Given the description of an element on the screen output the (x, y) to click on. 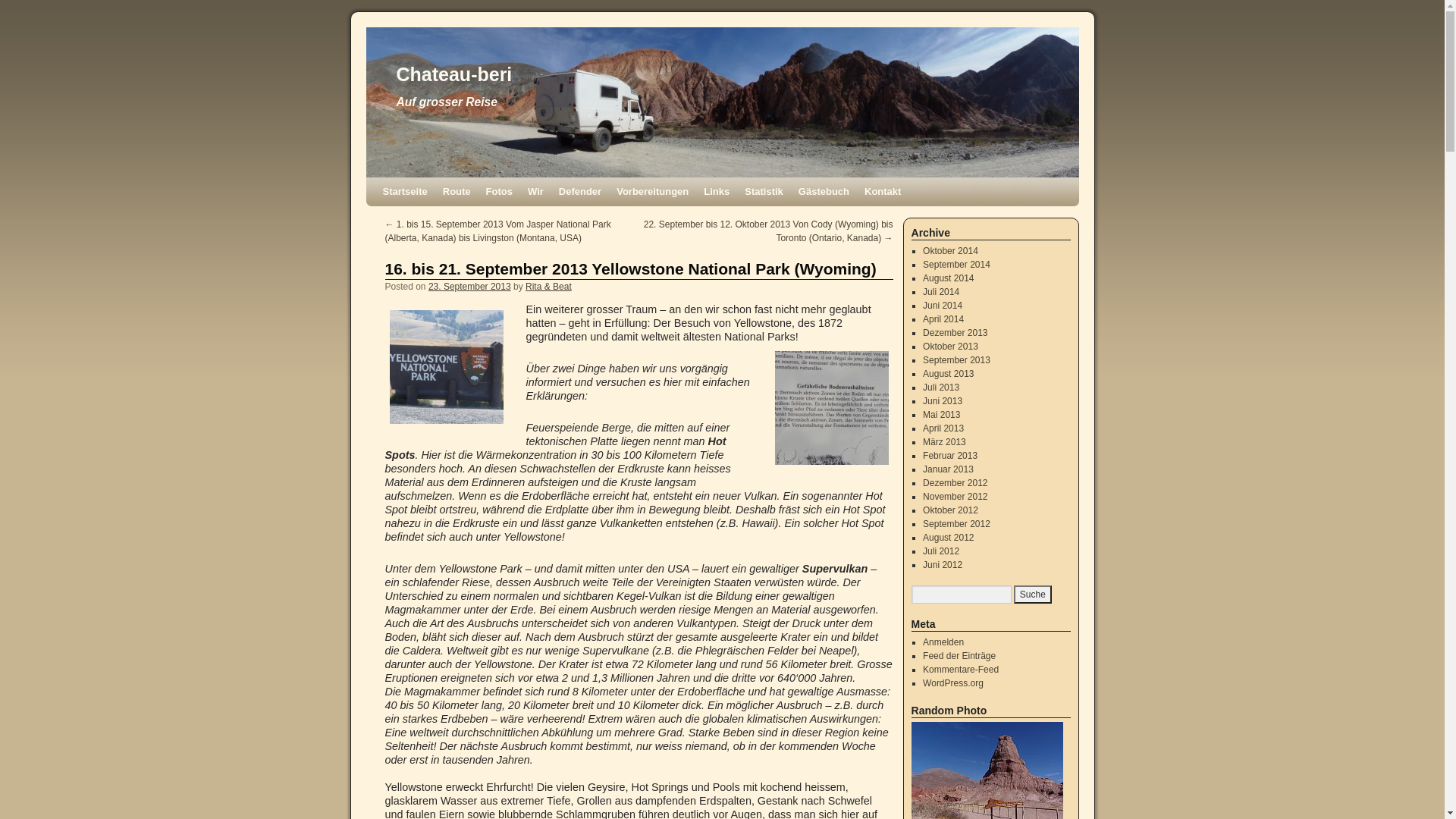
Juli 2013 Element type: text (940, 387)
Anmelden Element type: text (942, 642)
Route Element type: text (456, 191)
Ankunft! Element type: hover (446, 366)
Chateau-beri Element type: text (453, 73)
Juni 2014 Element type: text (942, 305)
Defender Element type: text (579, 191)
Startseite Element type: text (404, 191)
Juni 2013 Element type: text (942, 400)
Dezember 2013 Element type: text (954, 332)
September 2013 Element type: text (956, 359)
Statistik Element type: text (763, 191)
Links Element type: text (716, 191)
August 2013 Element type: text (947, 373)
September 2012 Element type: text (956, 523)
Januar 2013 Element type: text (947, 469)
Juni 2012 Element type: text (942, 564)
April 2014 Element type: text (942, 318)
Fotos Element type: text (499, 191)
April 2013 Element type: text (942, 428)
Suche Element type: text (1032, 594)
Kontakt Element type: text (882, 191)
Mai 2013 Element type: text (941, 414)
November 2012 Element type: text (954, 496)
Dezember 2012 Element type: text (954, 482)
Oktober 2014 Element type: text (950, 250)
Vorbereitungen Element type: text (652, 191)
Februar 2013 Element type: text (949, 455)
Warnung in vielen Sprachen! Element type: hover (831, 407)
Oktober 2013 Element type: text (950, 346)
Juli 2014 Element type: text (940, 291)
August 2012 Element type: text (947, 537)
August 2014 Element type: text (947, 278)
23. September 2013 Element type: text (469, 286)
Rita & Beat Element type: text (548, 286)
Wir Element type: text (535, 191)
Oktober 2012 Element type: text (950, 510)
September 2014 Element type: text (956, 264)
WordPress.org Element type: text (952, 682)
Juli 2012 Element type: text (940, 551)
Kommentare-Feed Element type: text (960, 669)
